Given the description of an element on the screen output the (x, y) to click on. 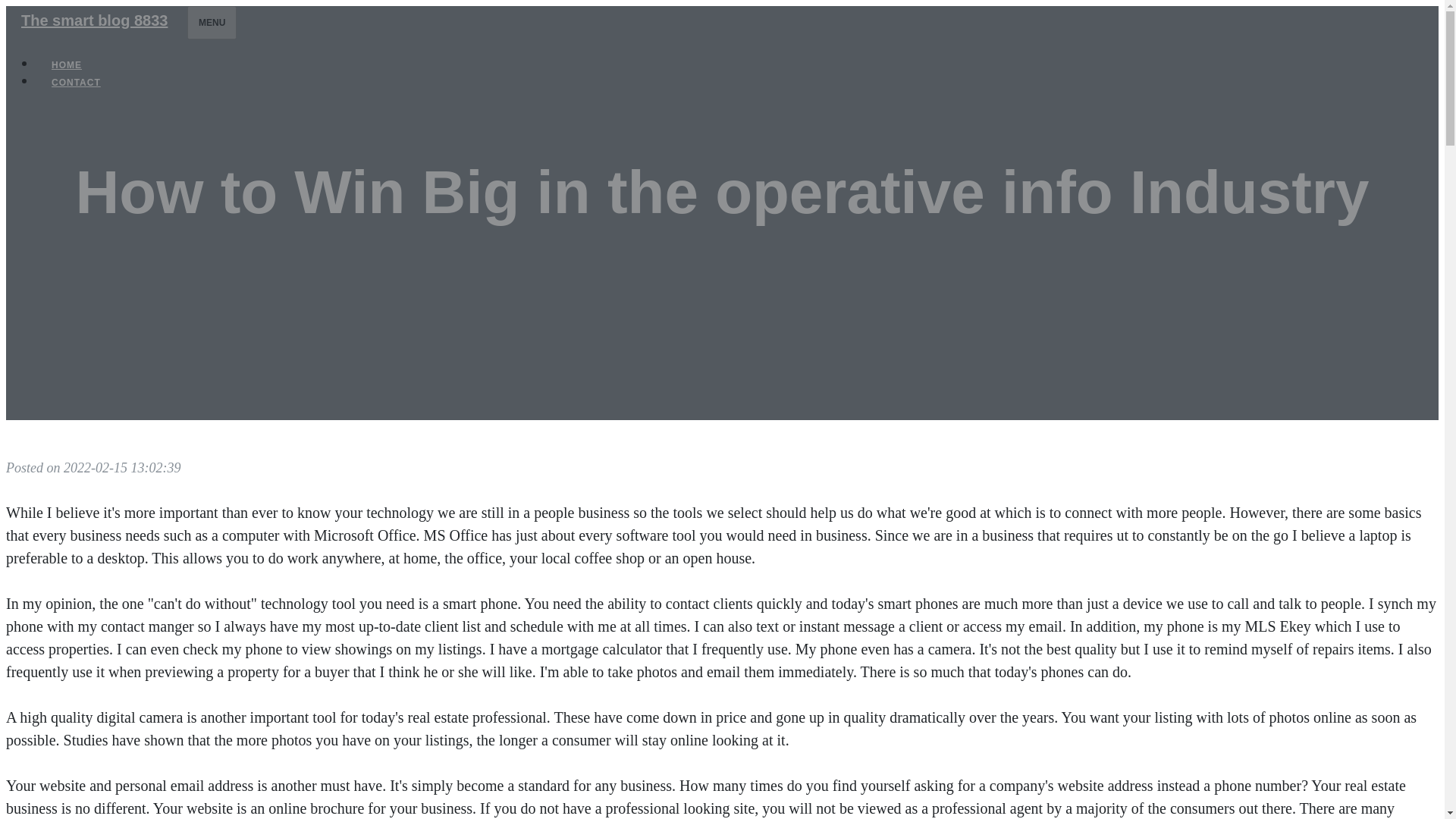
HOME (66, 64)
CONTACT (76, 82)
MENU (211, 22)
The smart blog 8833 (94, 20)
